Given the description of an element on the screen output the (x, y) to click on. 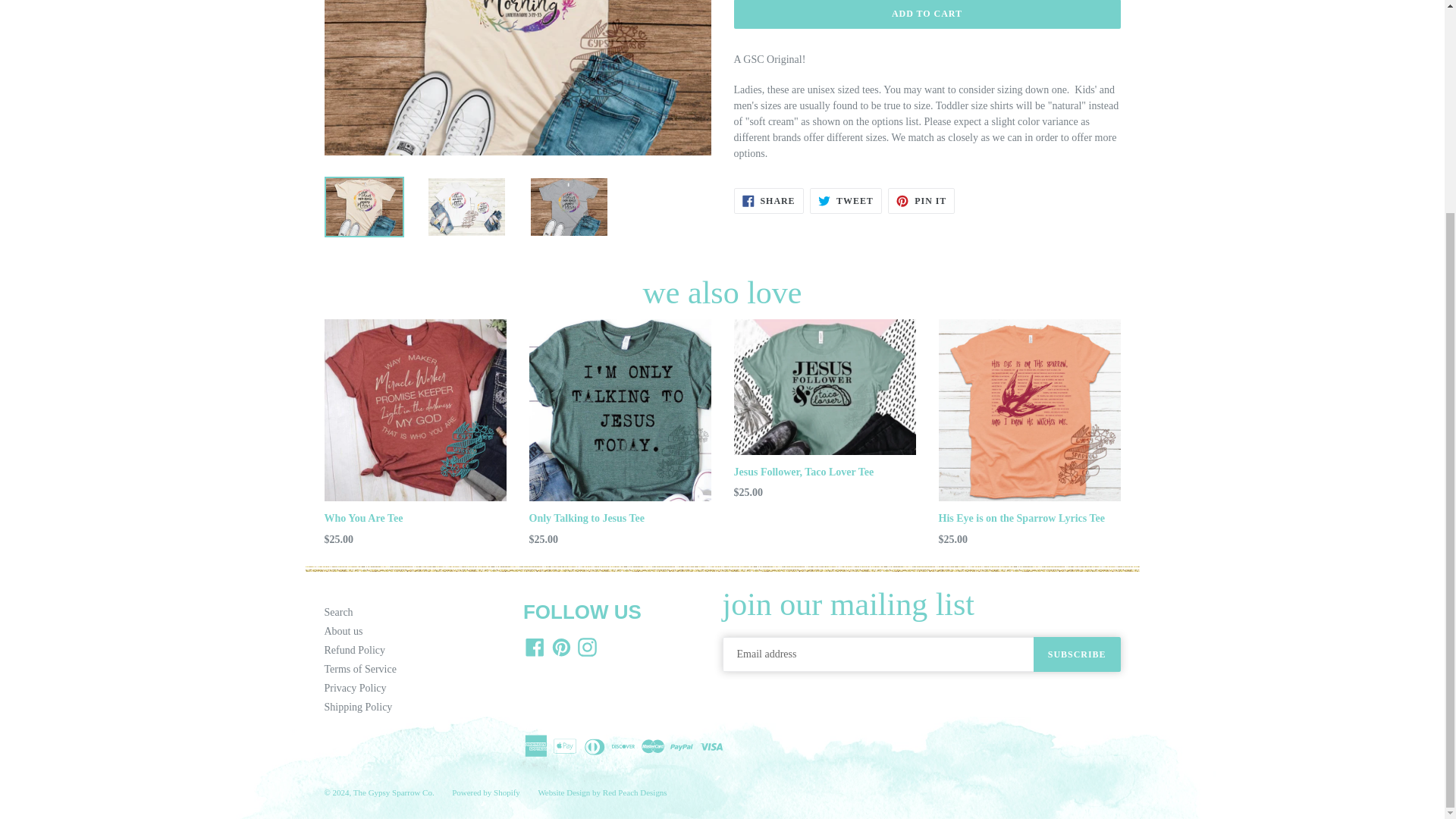
The Gypsy Sparrow Co. on Pinterest (560, 647)
The Gypsy Sparrow Co. on Instagram (586, 647)
Pin on Pinterest (921, 200)
Share on Facebook (768, 200)
Tweet on Twitter (845, 200)
The Gypsy Sparrow Co. on Facebook (534, 647)
